Given the description of an element on the screen output the (x, y) to click on. 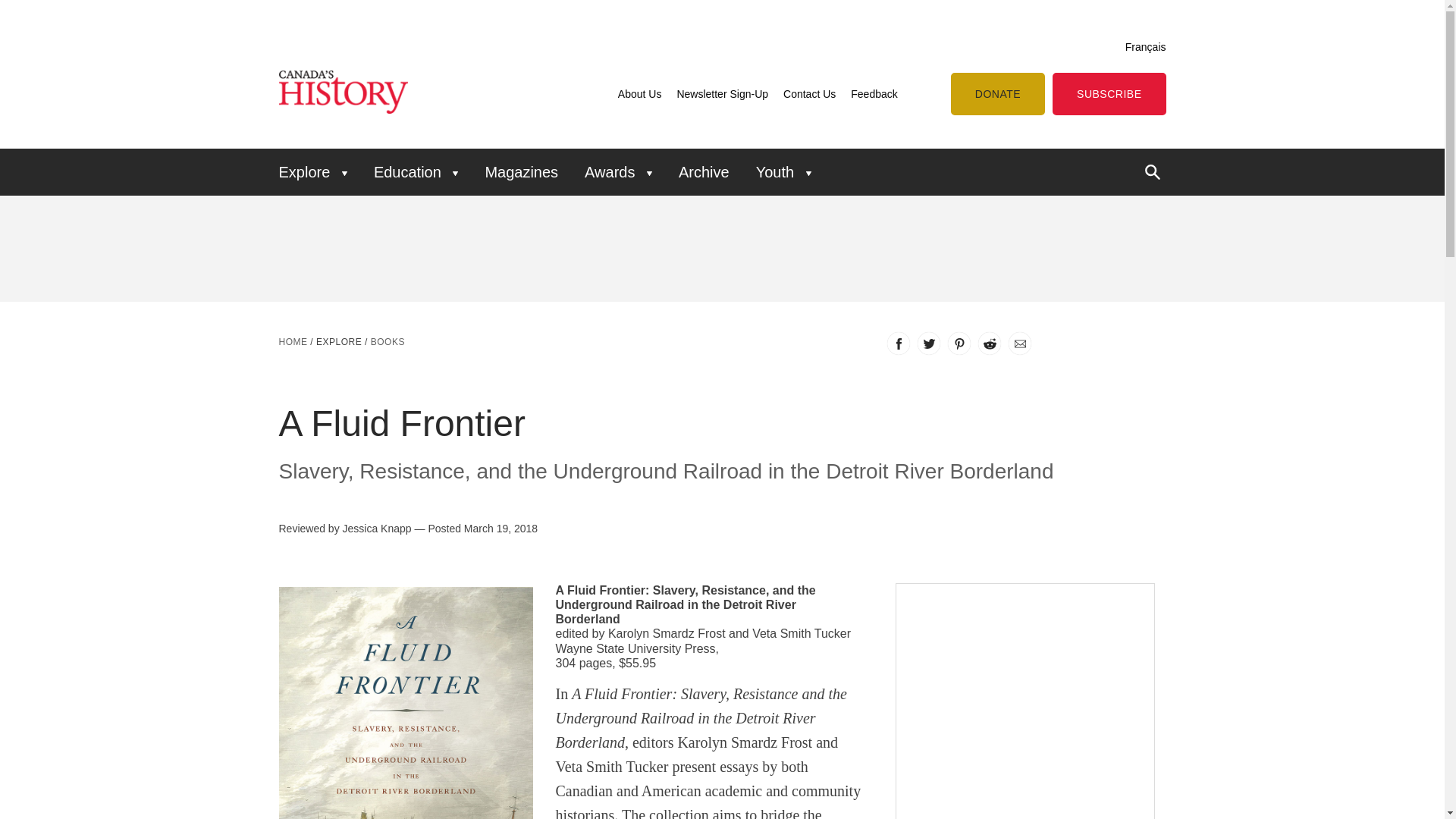
Newsletter Sign-Up (722, 93)
SUBSCRIBE (1109, 93)
Explore (318, 171)
Explore (338, 341)
Home (293, 341)
About Us (639, 93)
search-icon (1152, 171)
DONATE (997, 93)
Education (416, 171)
Books (387, 341)
